Given the description of an element on the screen output the (x, y) to click on. 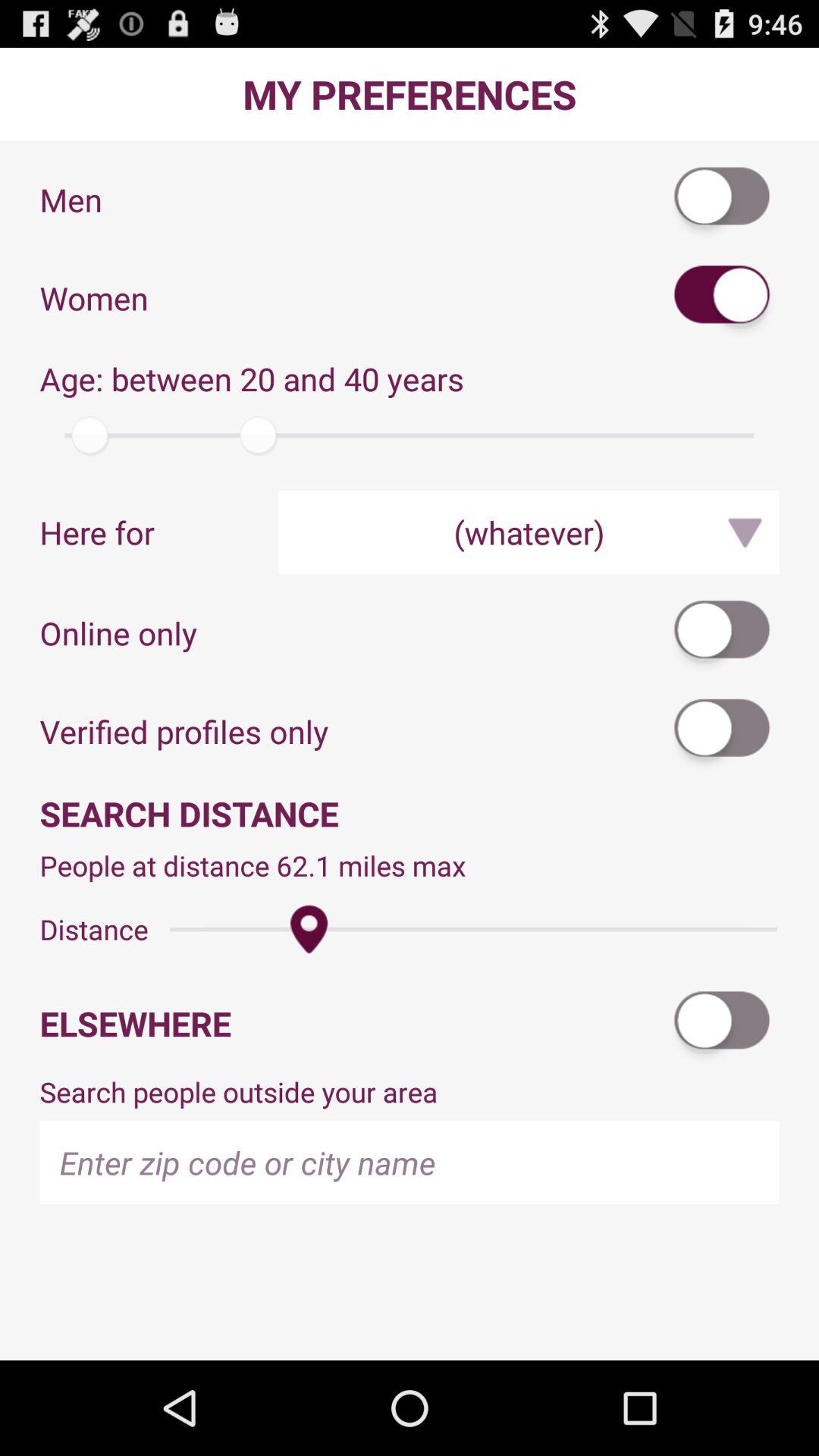
turn on the app below the (whatever) app (722, 632)
